Given the description of an element on the screen output the (x, y) to click on. 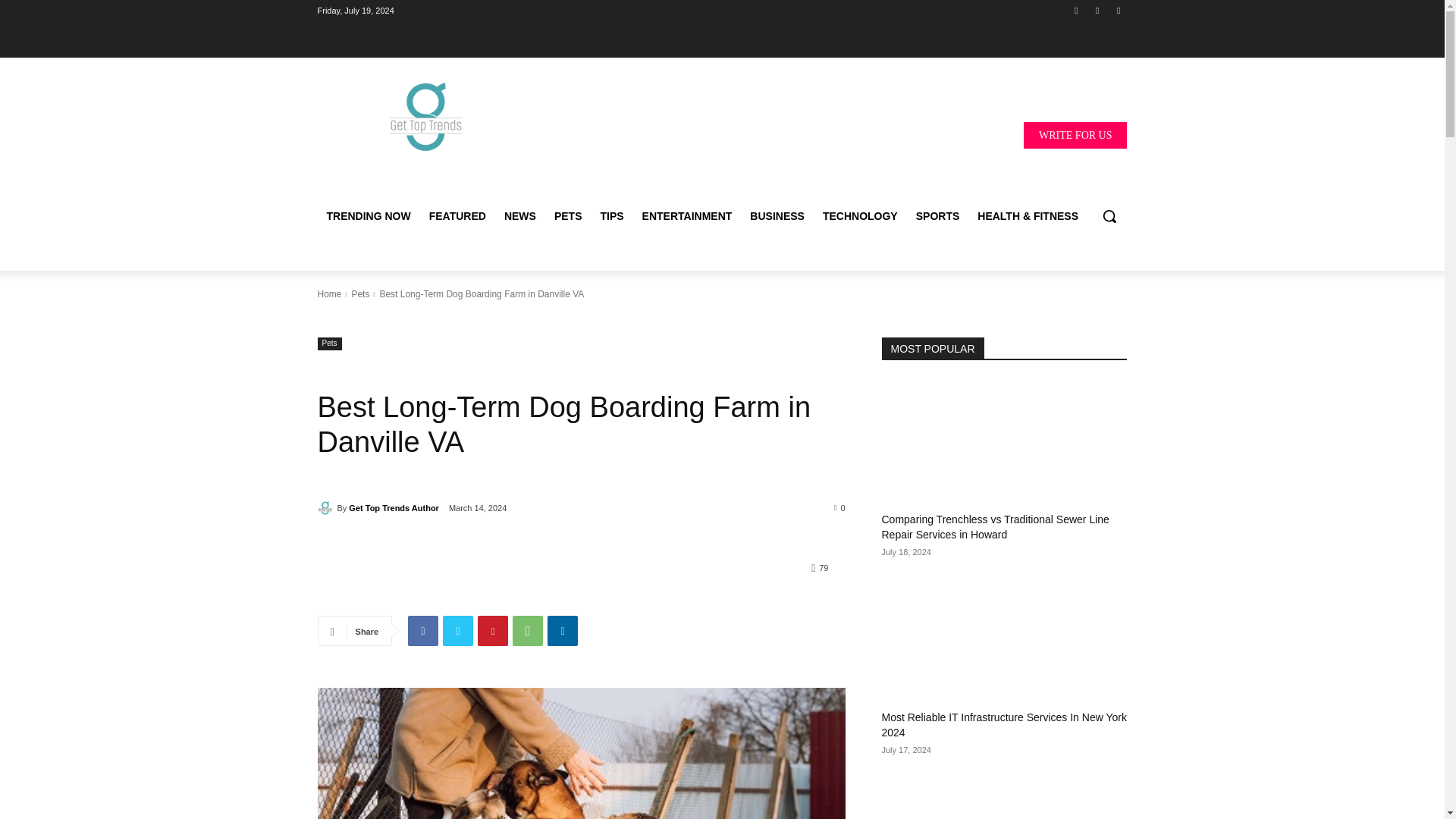
Get Top Trends Author (326, 507)
PETS (567, 216)
TRENDING NOW (368, 216)
View all posts in Pets (359, 294)
WRITE FOR US (1074, 134)
Facebook (1075, 9)
Facebook (422, 630)
TECHNOLOGY (860, 216)
Twitter (457, 630)
SPORTS (938, 216)
Home (328, 294)
